Given the description of an element on the screen output the (x, y) to click on. 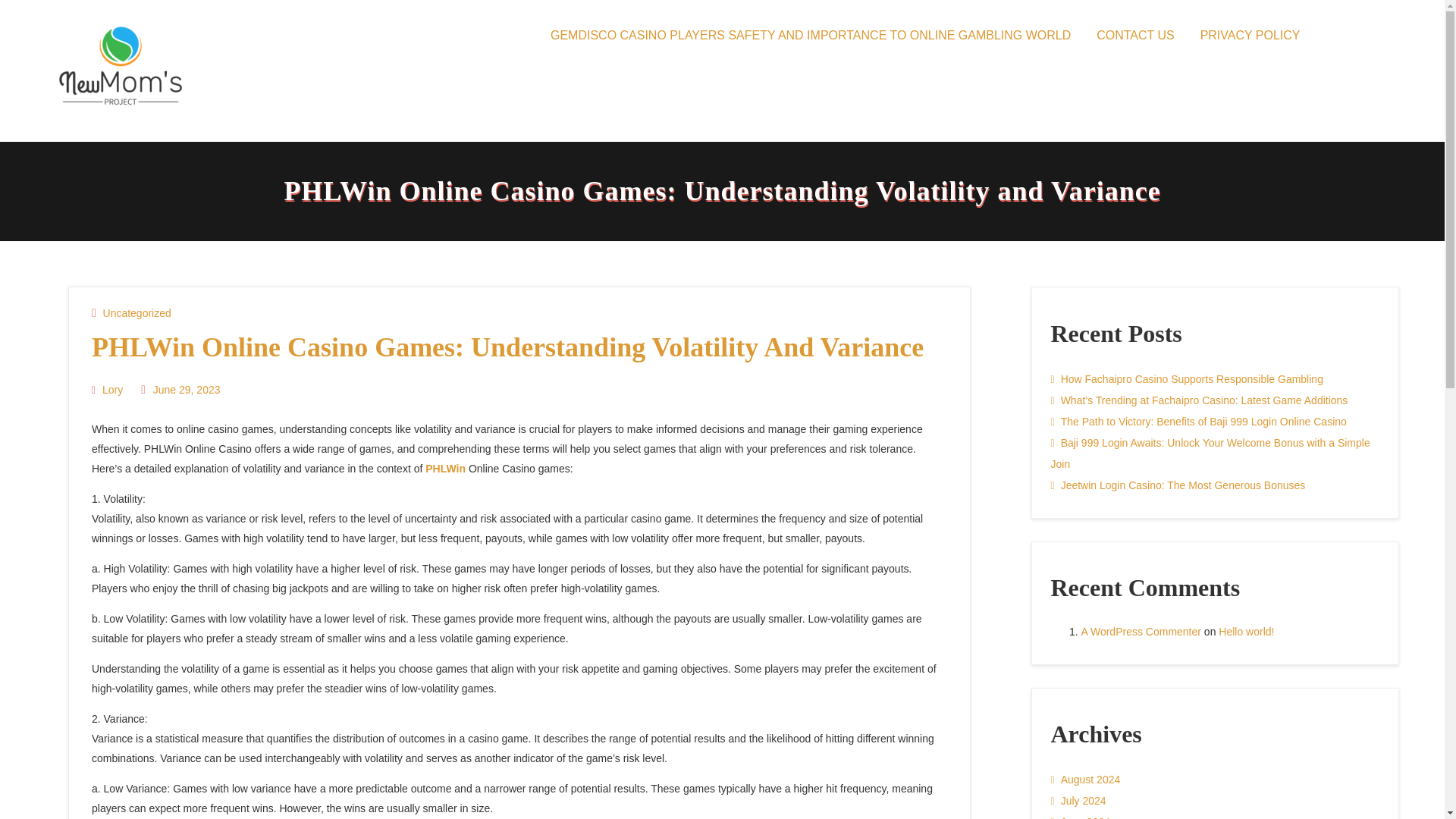
Lory (110, 389)
How Fachaipro Casino Supports Responsible Gambling (1187, 378)
CONTACT US (1135, 35)
Uncategorized (137, 312)
June 29, 2023 (185, 389)
PHLWin (445, 468)
A WordPress Commenter (1141, 631)
4:16 am (185, 389)
August 2024 (1086, 779)
July 2024 (1078, 800)
PRIVACY POLICY (1250, 35)
Hello world! (1246, 631)
